Given the description of an element on the screen output the (x, y) to click on. 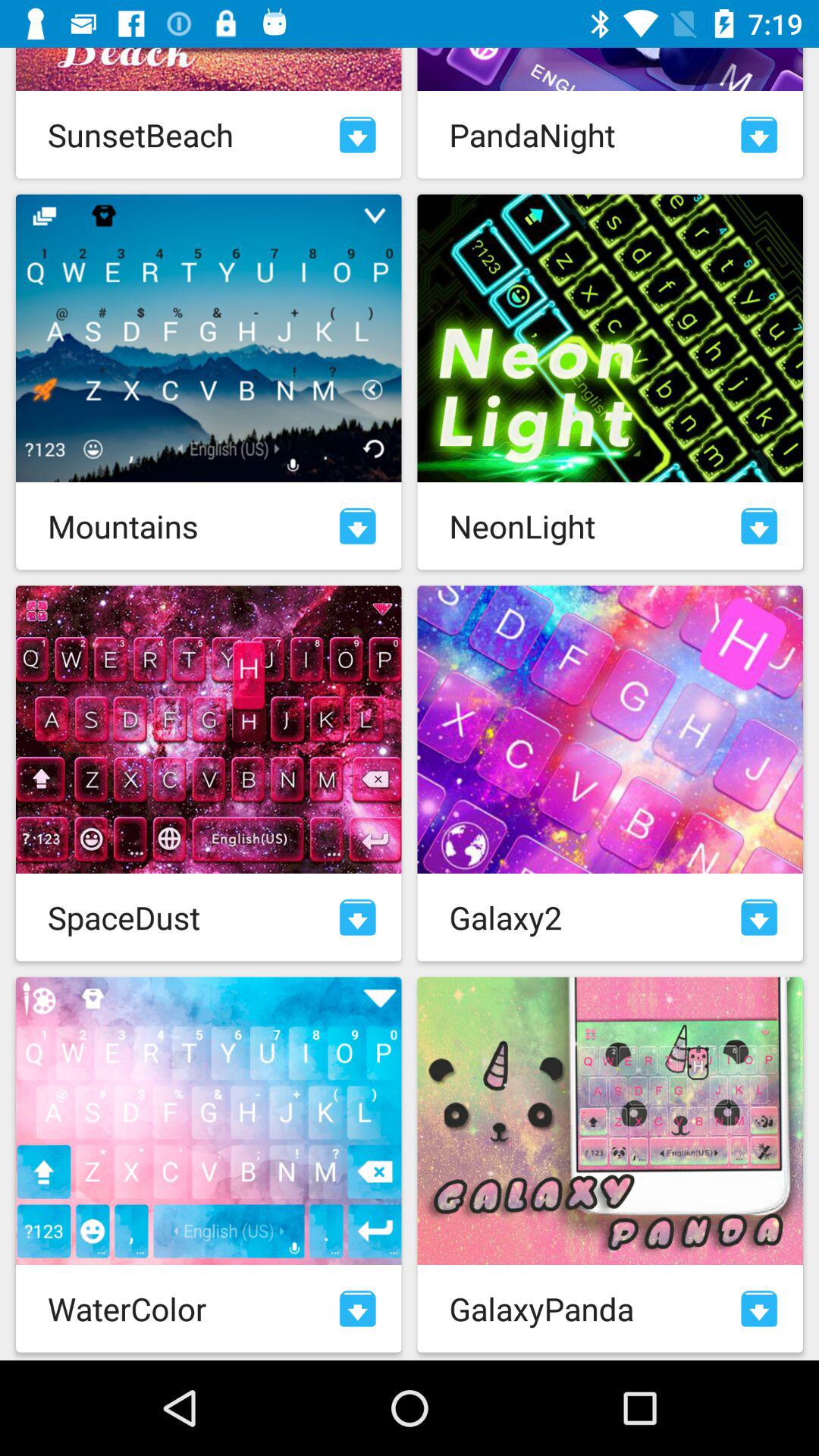
download neonlight theme (759, 525)
